Given the description of an element on the screen output the (x, y) to click on. 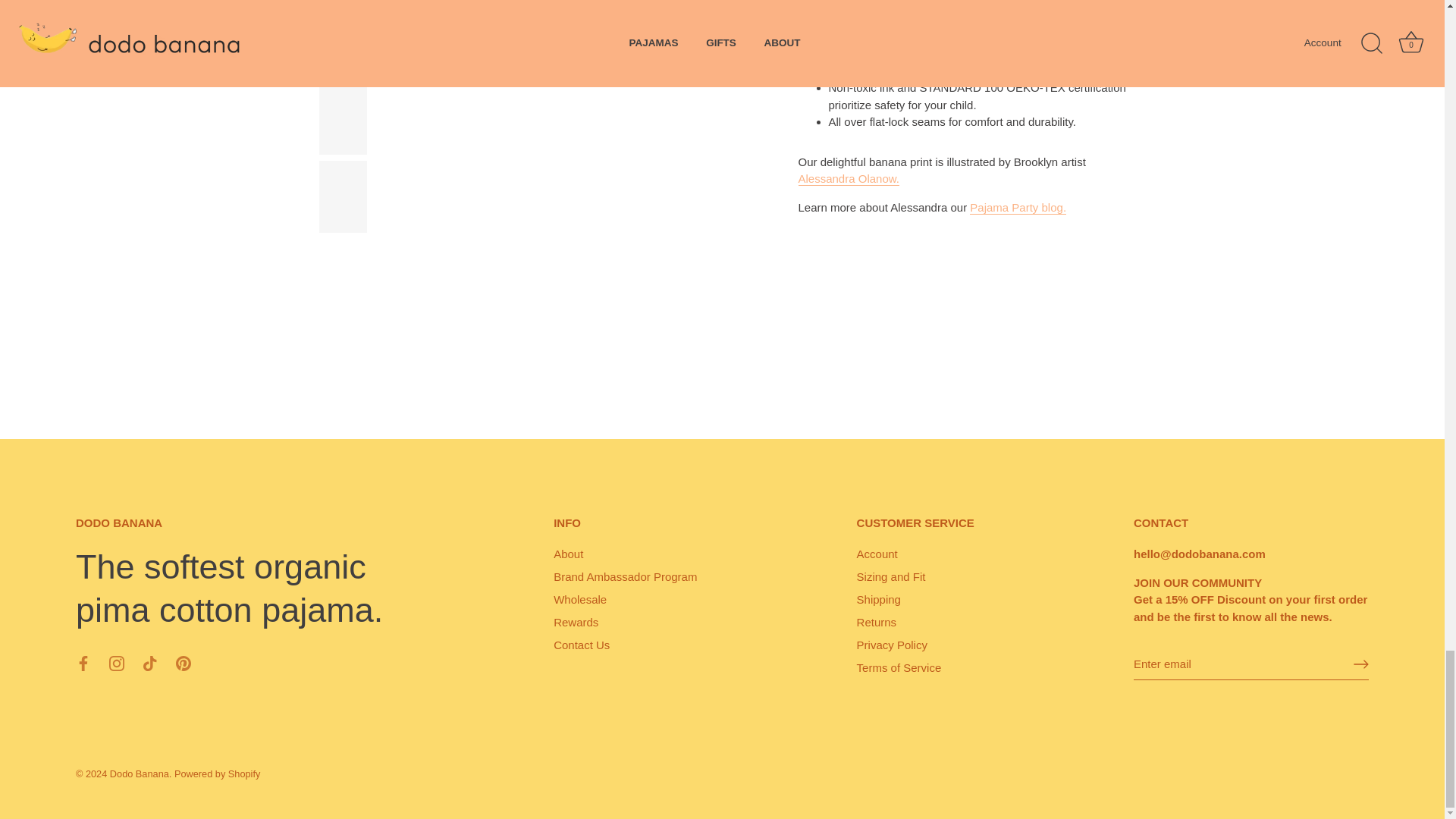
Instagram (116, 663)
Pinterest (183, 663)
RIGHT ARROW LONG (1361, 663)
